Given the description of an element on the screen output the (x, y) to click on. 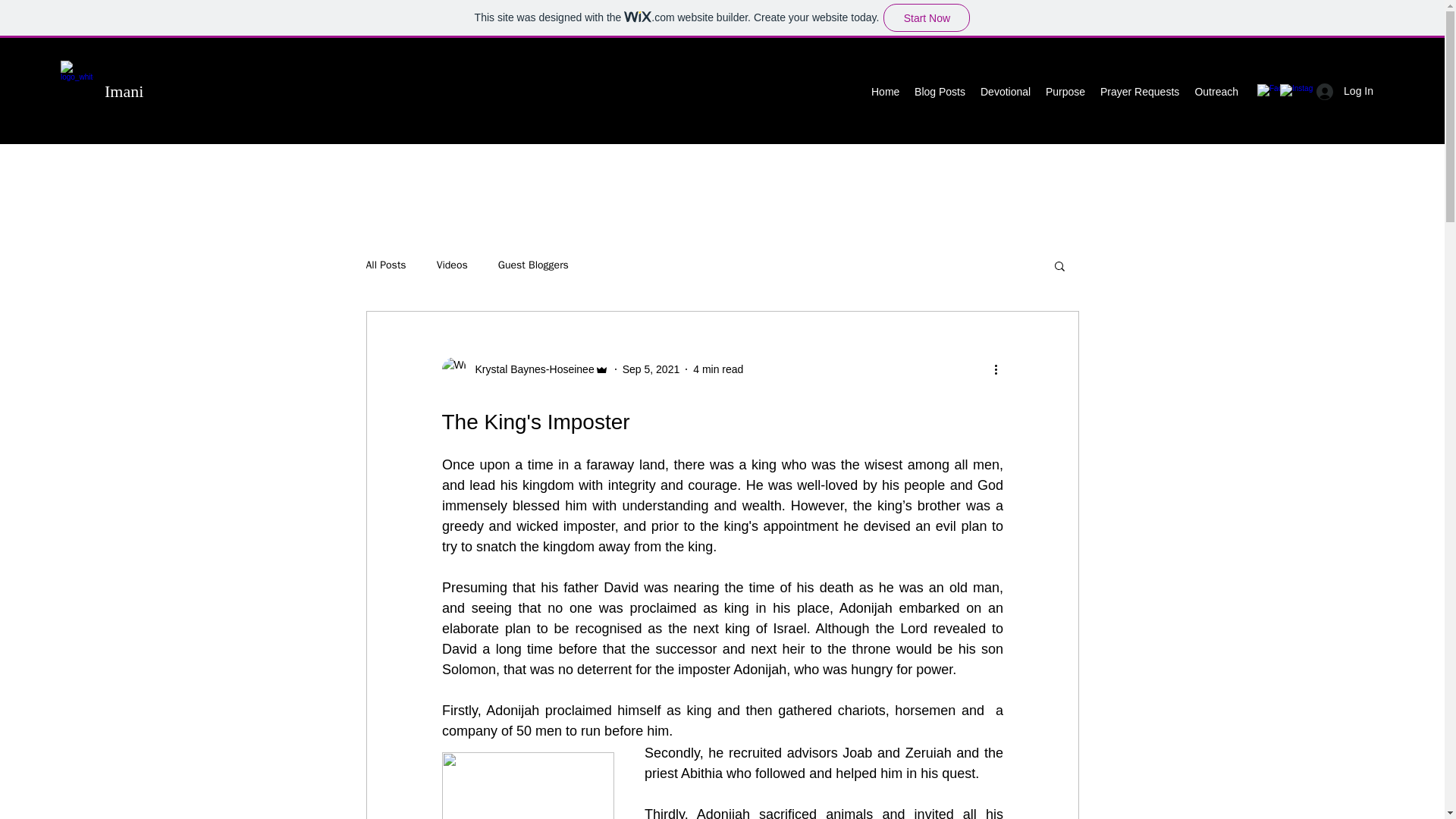
Log In (1345, 90)
All Posts (385, 264)
Imani (123, 90)
Krystal Baynes-Hoseinee (524, 369)
Devotional (1005, 91)
Outreach (1216, 91)
Guest Bloggers (533, 264)
4 min read (717, 368)
Sep 5, 2021 (651, 368)
Blog Posts (939, 91)
Krystal Baynes-Hoseinee (529, 368)
Prayer Requests (1139, 91)
Videos (451, 264)
Home (885, 91)
Purpose (1065, 91)
